Given the description of an element on the screen output the (x, y) to click on. 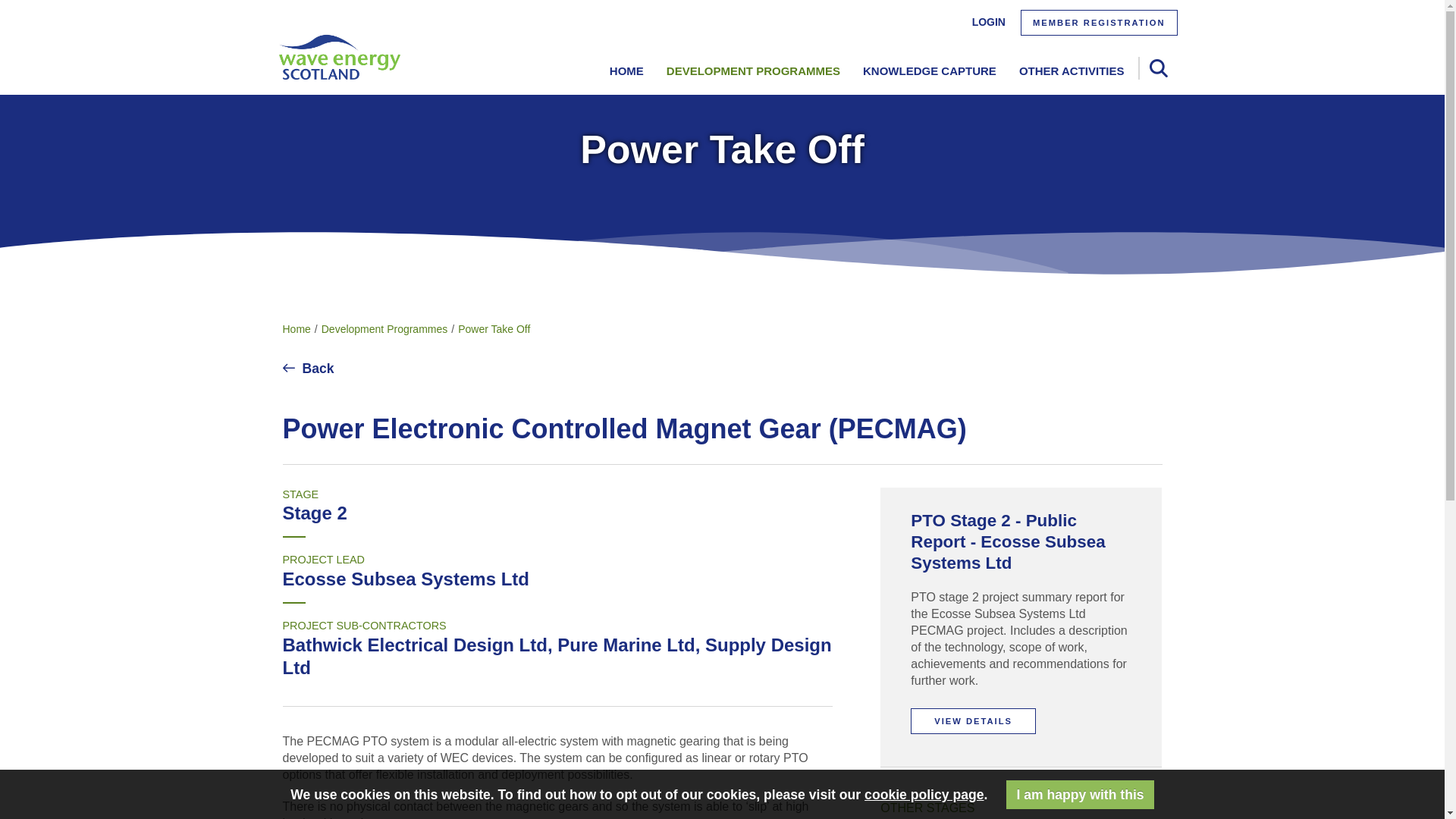
MEMBER REGISTRATION (1098, 22)
I am happy with this (1080, 794)
Development Programmes (384, 328)
KNOWLEDGE CAPTURE (917, 71)
Back (307, 368)
LOGIN (989, 21)
Power Take Off (493, 328)
cookie policy page (924, 794)
HOME (614, 71)
cookie policy page (924, 794)
DEVELOPMENT PROGRAMMES (741, 71)
VIEW DETAILS (973, 720)
Home (296, 328)
OTHER ACTIVITIES (1059, 71)
PTO Stage 2 - Public Report - Ecosse Subsea Systems Ltd (1008, 541)
